Given the description of an element on the screen output the (x, y) to click on. 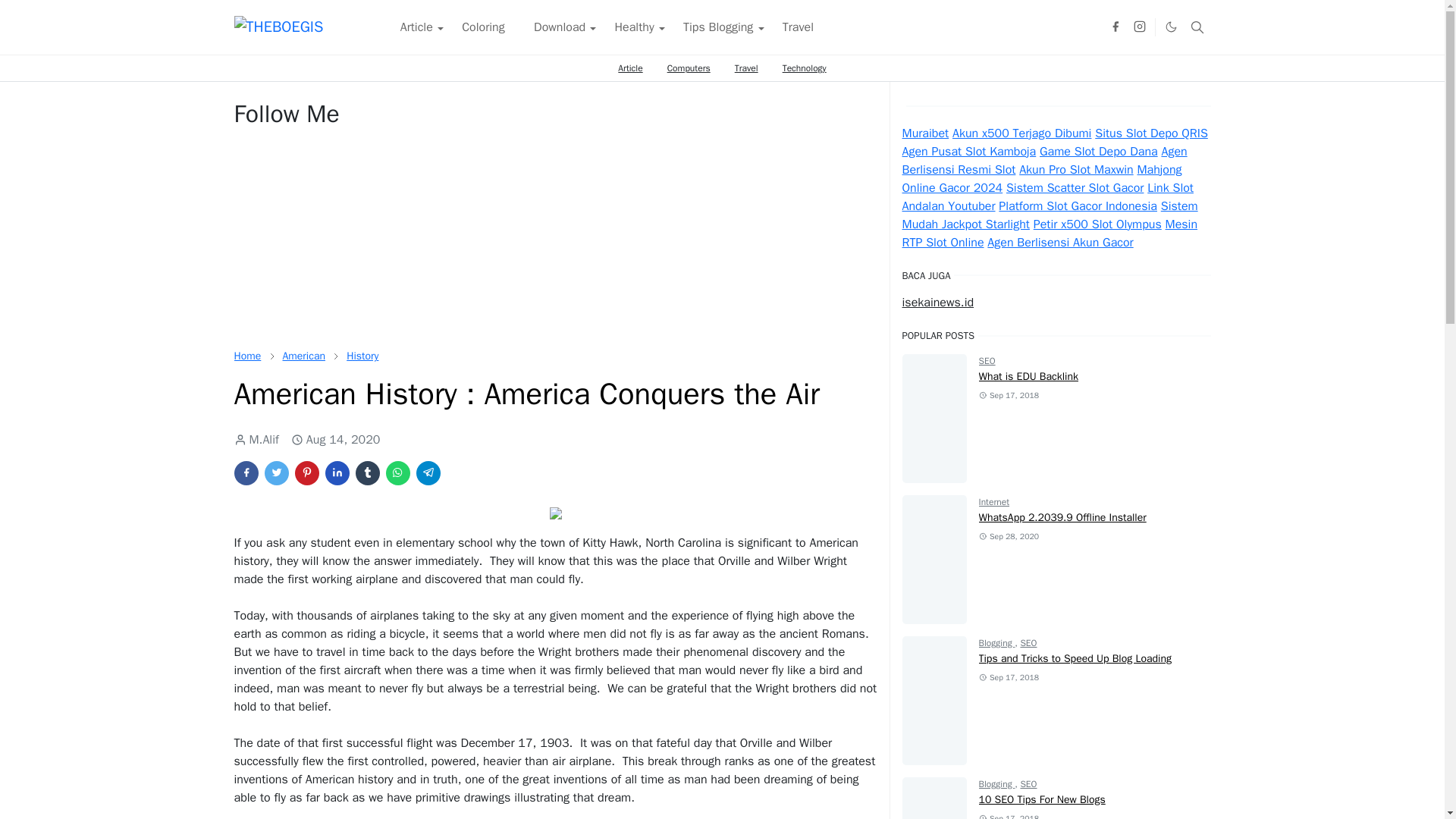
Facebook Share (244, 473)
Share to telegram (426, 473)
Coloring (482, 27)
American (303, 355)
Travel (798, 27)
Home (246, 355)
Article Computers Travel Technology (722, 68)
American (303, 355)
Computers (688, 68)
Tips Blogging (718, 27)
History (362, 355)
Linkedin Share (336, 473)
Share to whatsapp (397, 473)
Travel (746, 68)
Download (559, 27)
